Given the description of an element on the screen output the (x, y) to click on. 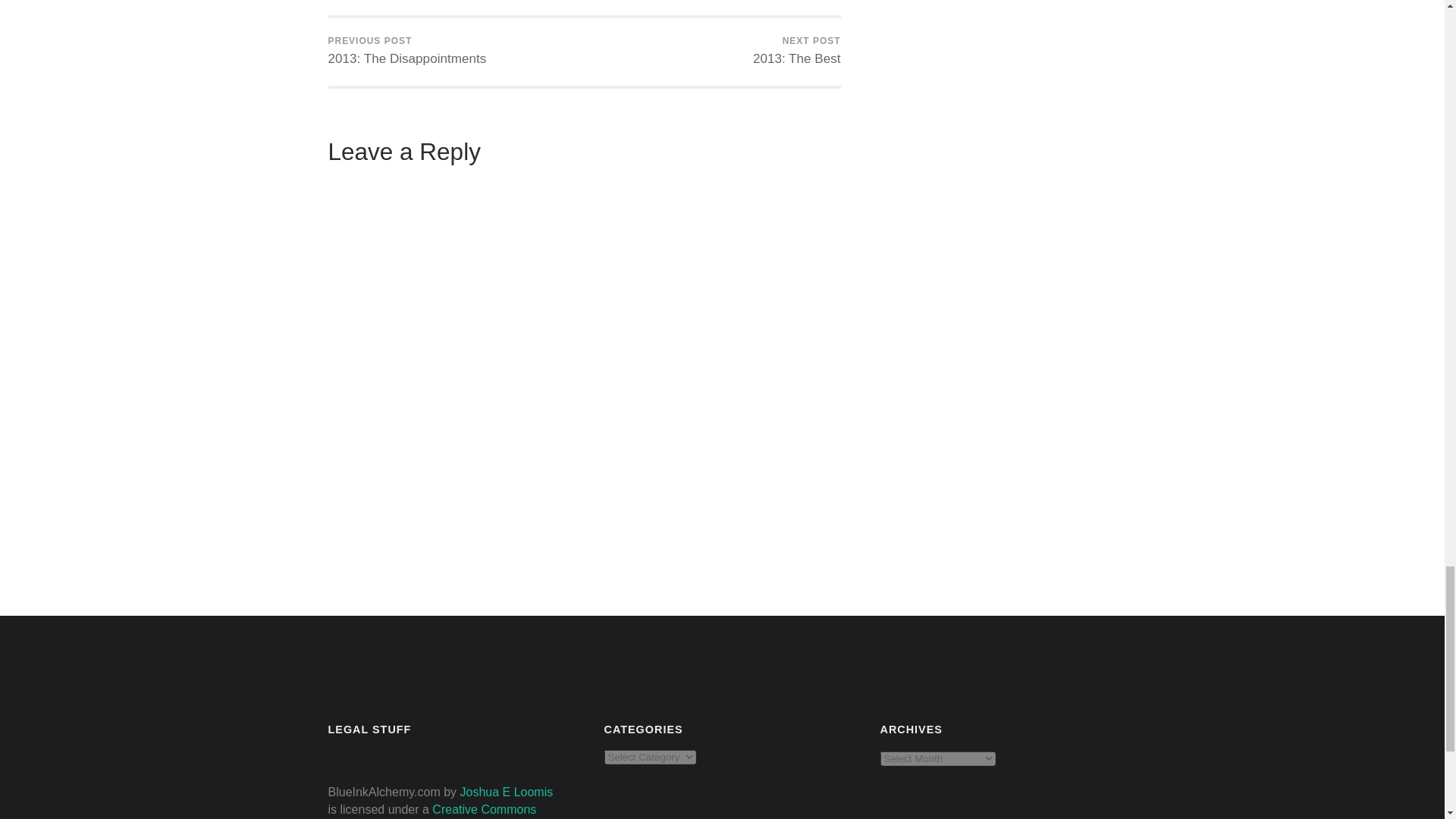
Next post: (796, 51)
Previous post: 2013: The Disappointments (406, 51)
